Given the description of an element on the screen output the (x, y) to click on. 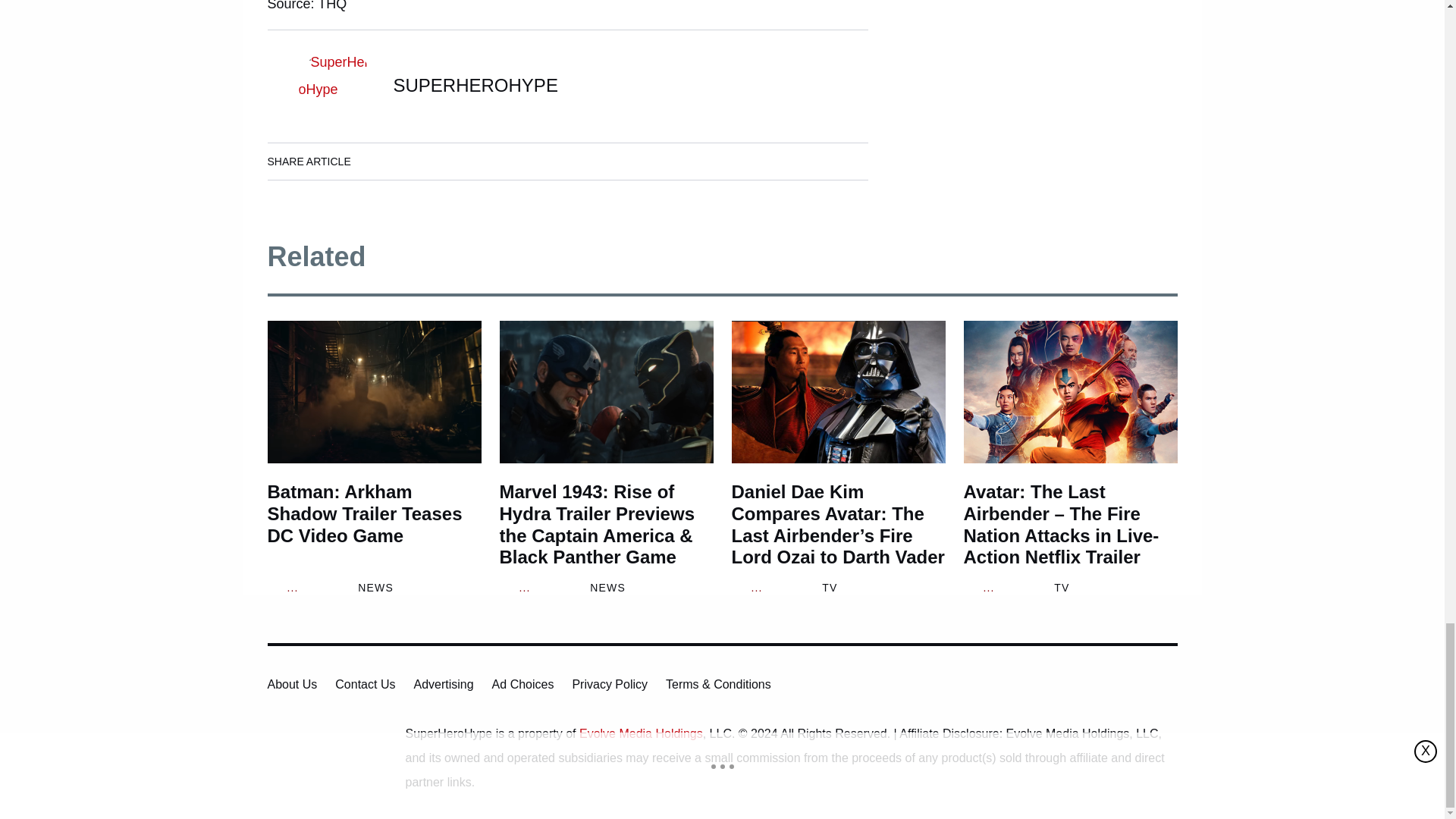
Batman: Arkham Shadow Trailer Teases DC Video Game (373, 392)
Twitter (463, 161)
LinkedIn (420, 161)
Batman: Arkham Shadow Trailer Teases DC Video Game (373, 524)
Pinterest (505, 161)
Facebook (377, 161)
SUPERHEROHYPE (475, 85)
